Given the description of an element on the screen output the (x, y) to click on. 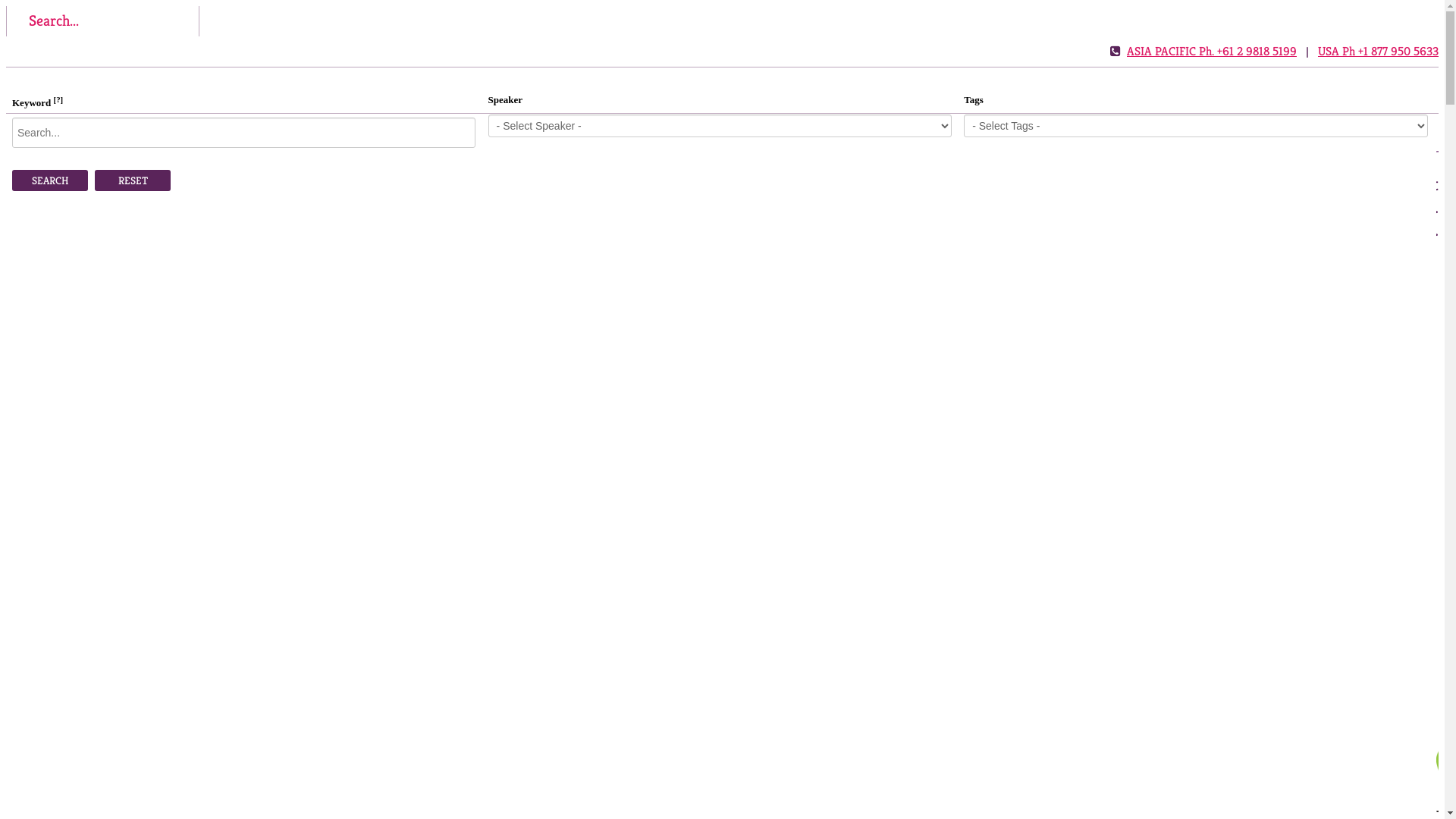
Search Element type: text (49, 180)
Reset Element type: text (132, 180)
  Search... Element type: text (102, 21)
USA Ph +1 877 950 5633 Element type: text (1377, 51)
Continue reading "Keynotes" Element type: hover (1437, 811)
ASIA PACIFIC Ph. +61 2 9818 5199 Element type: text (1211, 51)
